Given the description of an element on the screen output the (x, y) to click on. 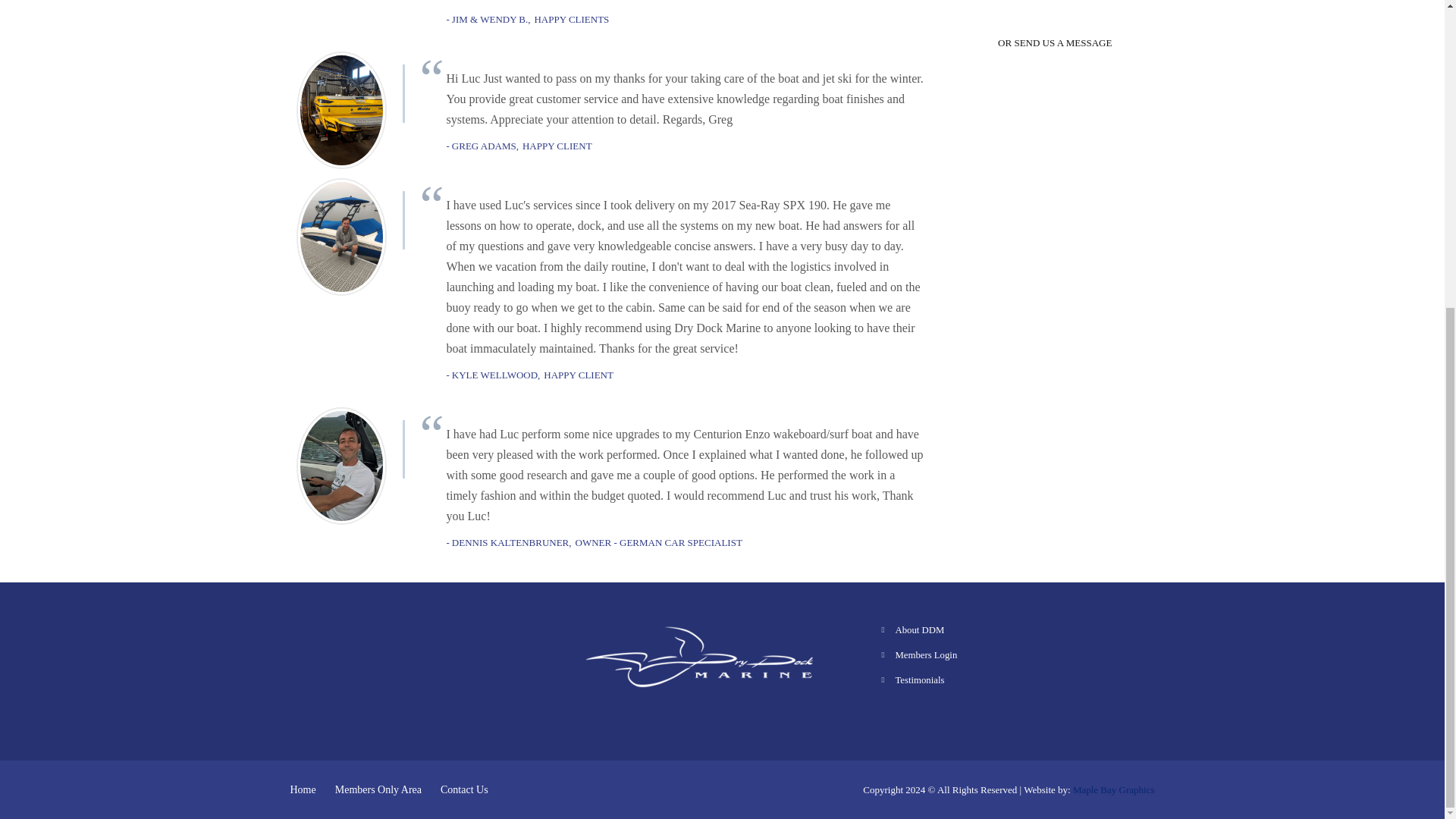
About DDM (919, 629)
Contact Us (464, 789)
Maple Bay Graphics (1113, 789)
Home (302, 789)
Testimonials (919, 679)
OR SEND US A MESSAGE (1054, 43)
Members Only Area (378, 789)
Members Login (925, 655)
